Given the description of an element on the screen output the (x, y) to click on. 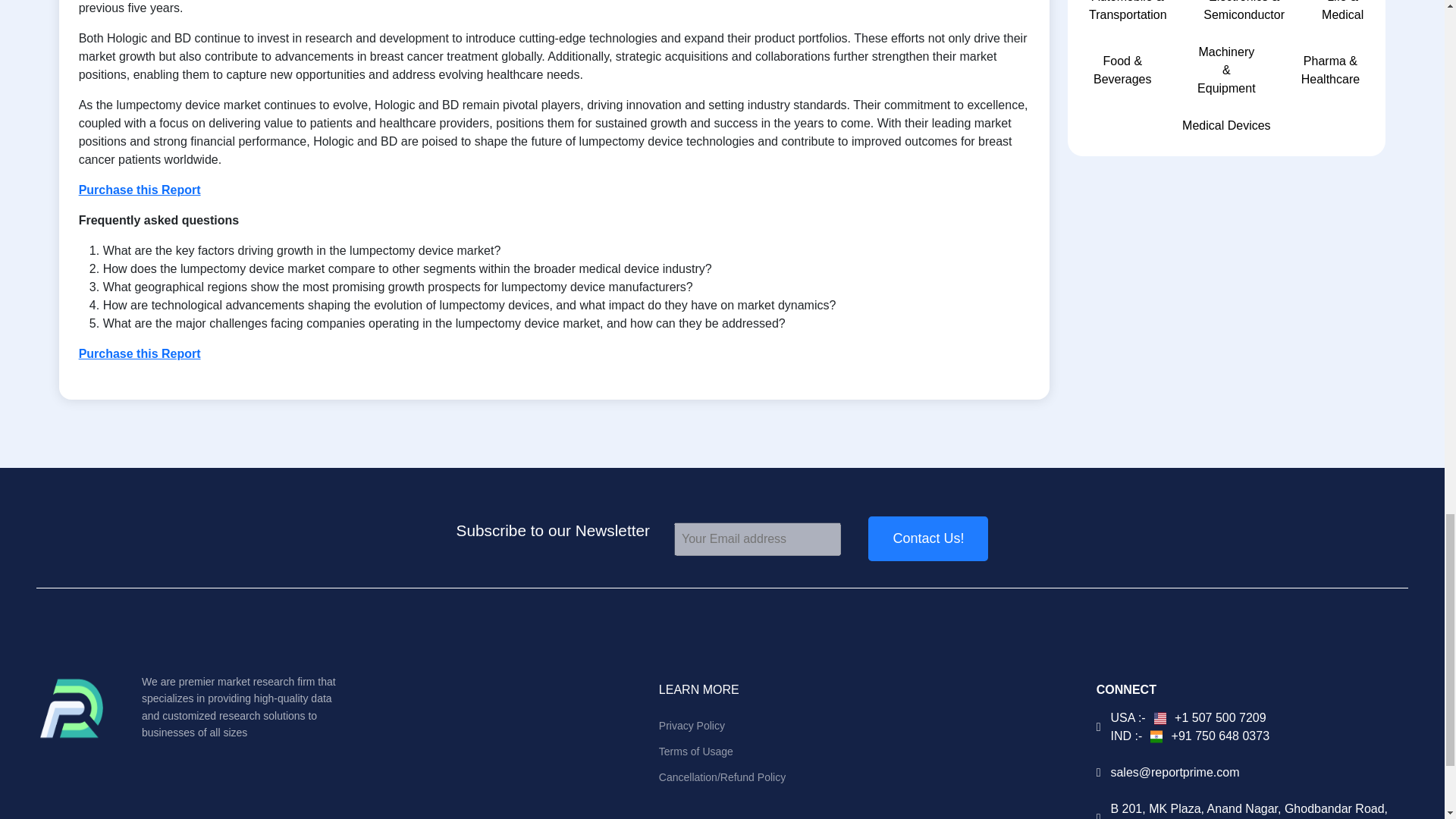
Purchase this Report (139, 189)
Purchase this Report (139, 353)
